Given the description of an element on the screen output the (x, y) to click on. 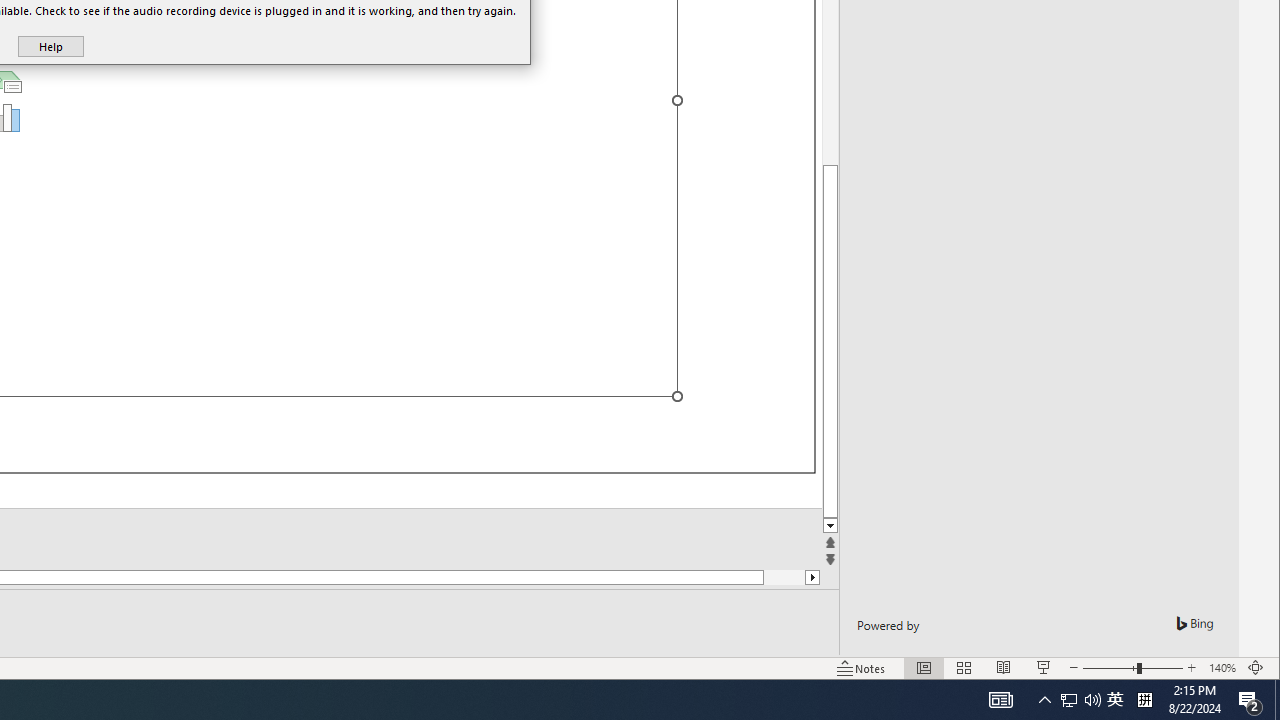
Zoom 140% (1222, 668)
